Given the description of an element on the screen output the (x, y) to click on. 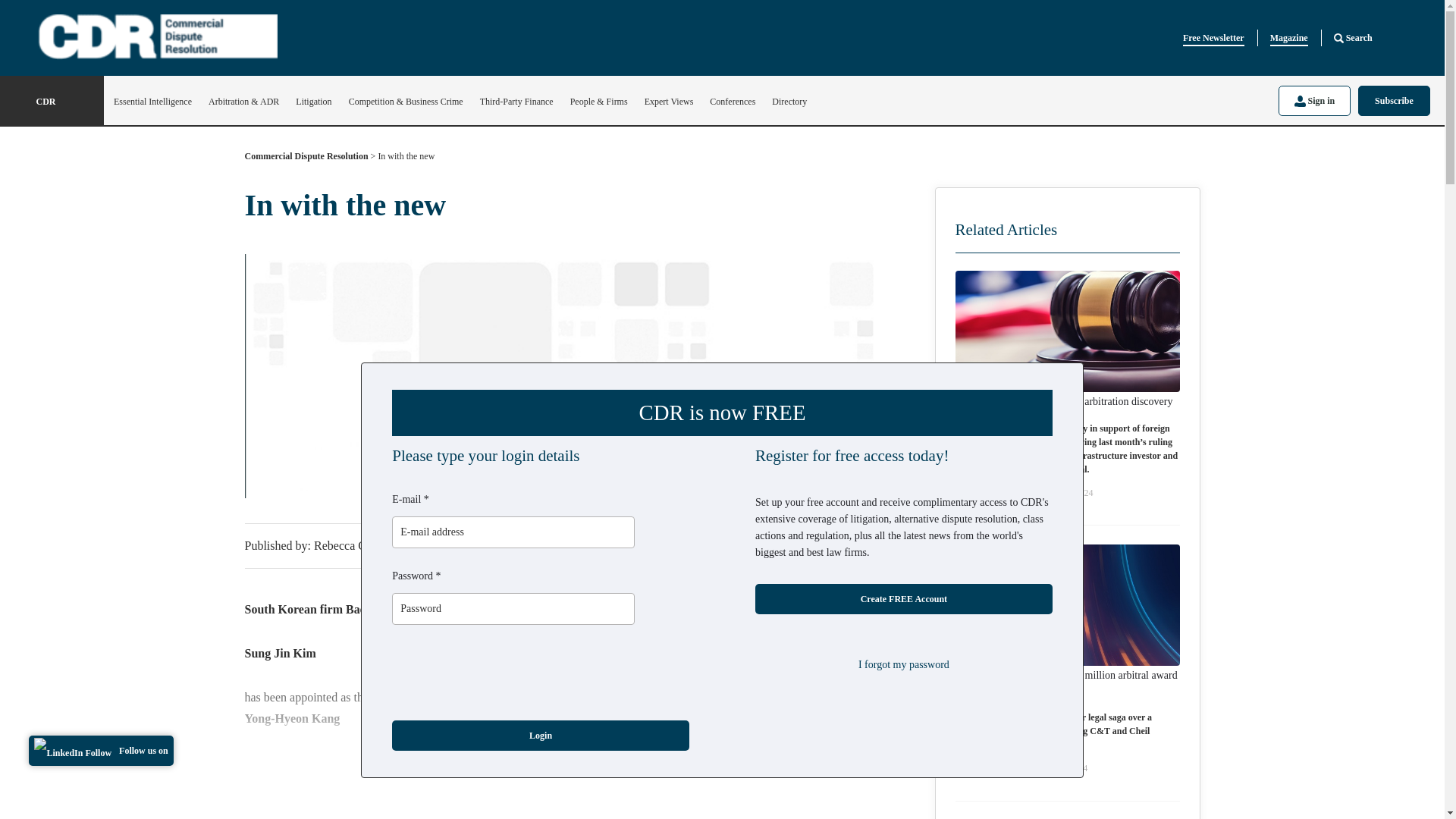
Sign in (1314, 100)
Third-Party Finance (516, 101)
Conferences (732, 101)
Commercial Dispute Resolution (306, 159)
Login (539, 735)
Expert Views (669, 101)
Create FREE Account (903, 598)
Magazine (1288, 37)
Litigation (313, 101)
Essential Intelligence (152, 101)
I forgot my password (904, 664)
Subscribe (1393, 100)
Directory (788, 101)
US court rules out investment arbitration discovery (1064, 401)
